Given the description of an element on the screen output the (x, y) to click on. 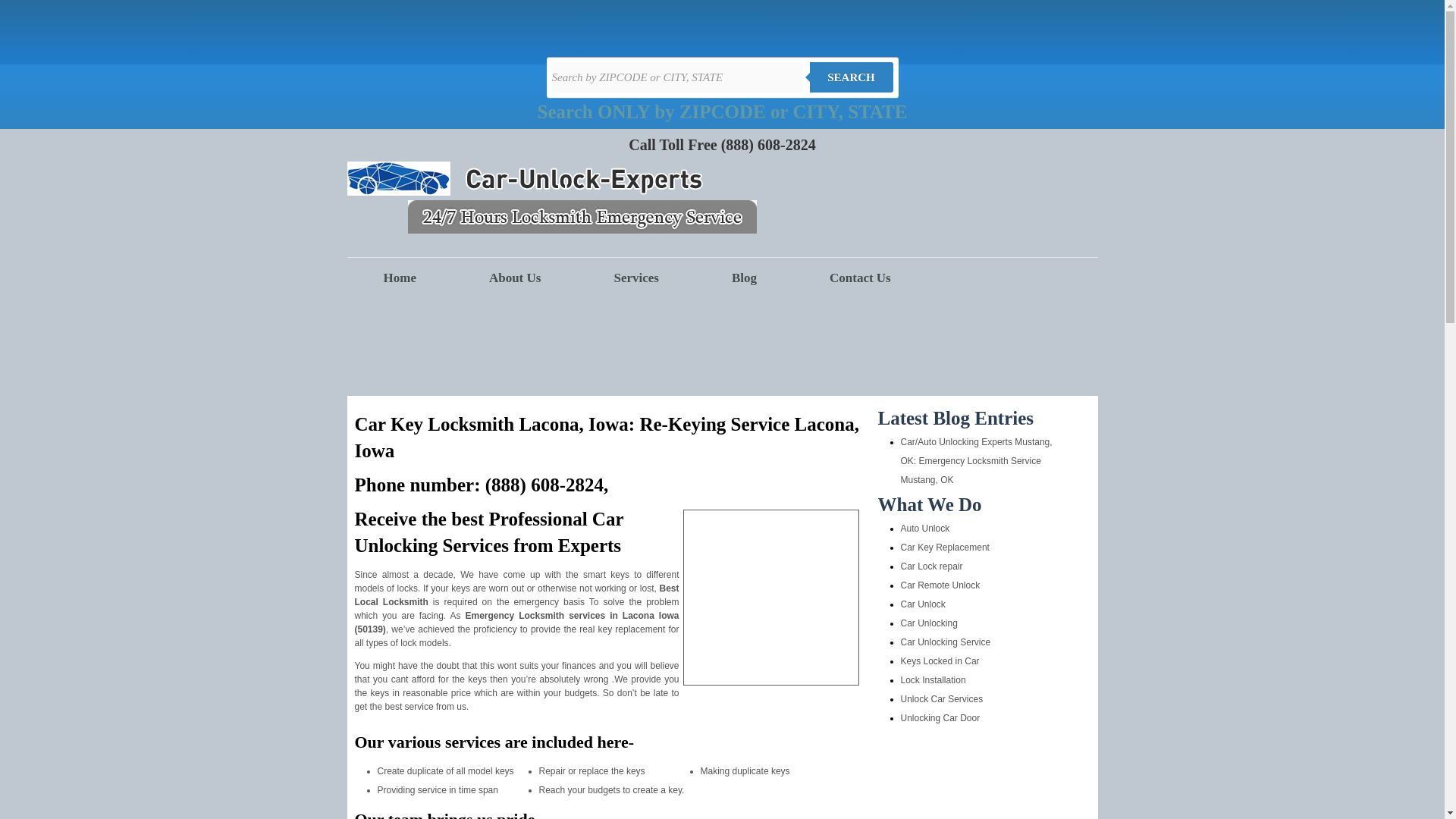
Contact Us (860, 277)
SEARCH (851, 77)
Services (635, 277)
About Us (515, 277)
Home (399, 277)
Blog (744, 277)
